Given the description of an element on the screen output the (x, y) to click on. 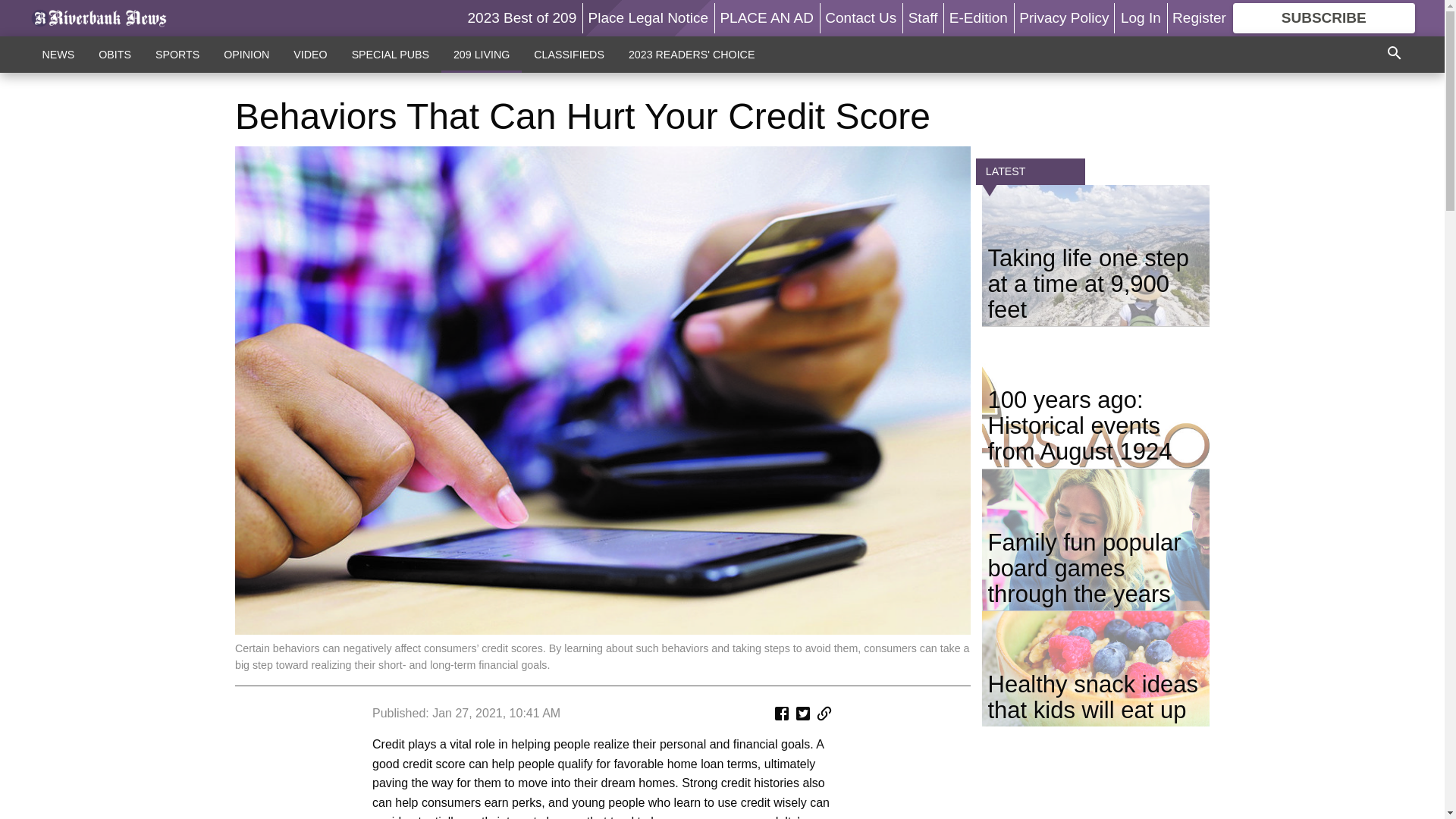
Register (1198, 17)
NEWS (58, 54)
Privacy Policy (1063, 17)
PLACE AN AD (766, 17)
SUBSCRIBE (1324, 18)
Staff (922, 17)
CLASSIFIEDS (568, 54)
OBITS (113, 54)
2023 Best of 209 (521, 17)
VIDEO (310, 54)
